Given the description of an element on the screen output the (x, y) to click on. 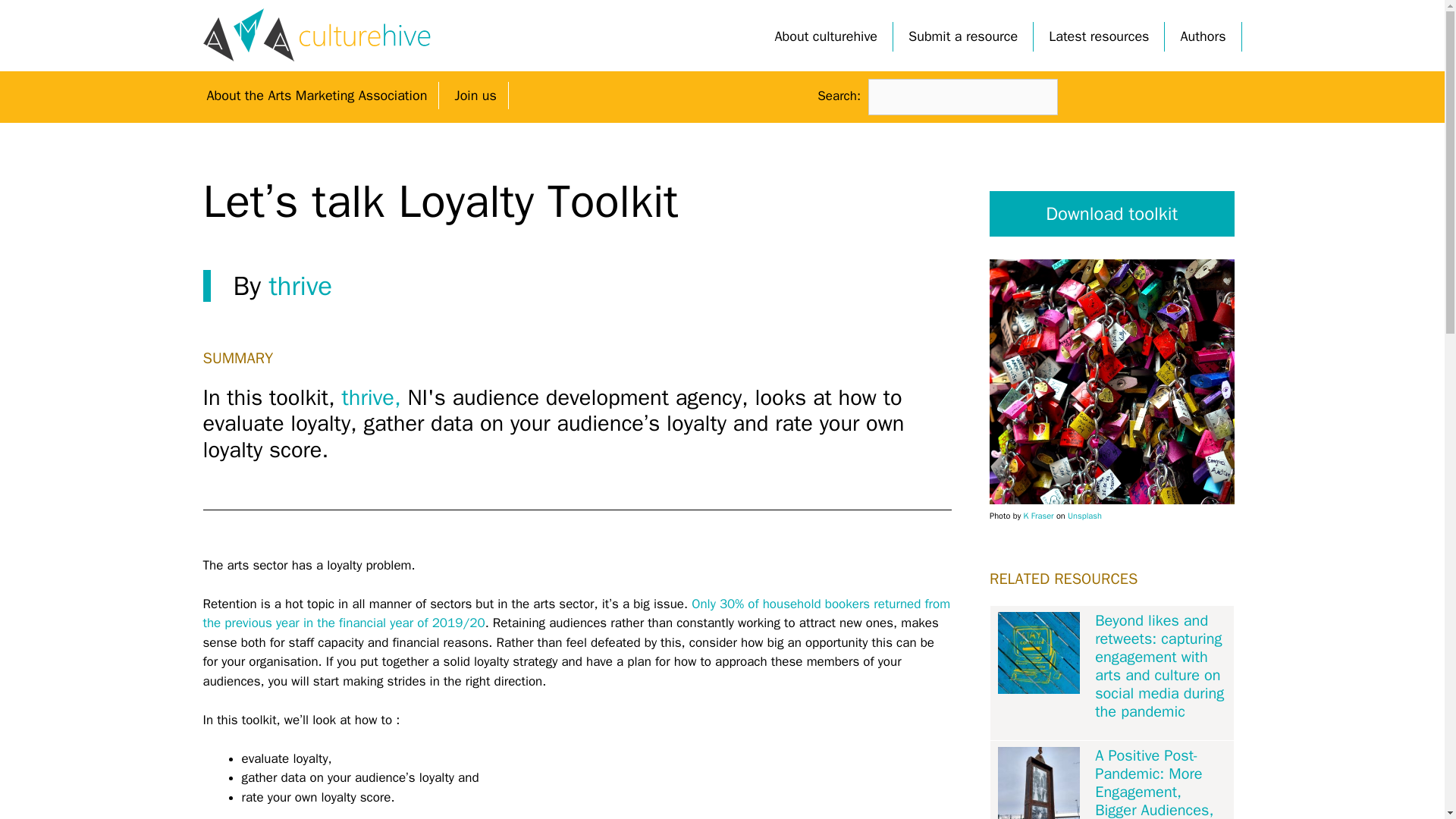
Submit a resource (962, 36)
Unsplash (1084, 515)
thrive, (374, 397)
thrive (299, 285)
Authors (1202, 36)
CultureHive (316, 34)
Join us (475, 94)
Download toolkit (1112, 213)
K Fraser (1038, 515)
CultureHive (316, 35)
Latest resources (1098, 36)
About culturehive (826, 36)
About the Arts Marketing Association (317, 94)
